Given the description of an element on the screen output the (x, y) to click on. 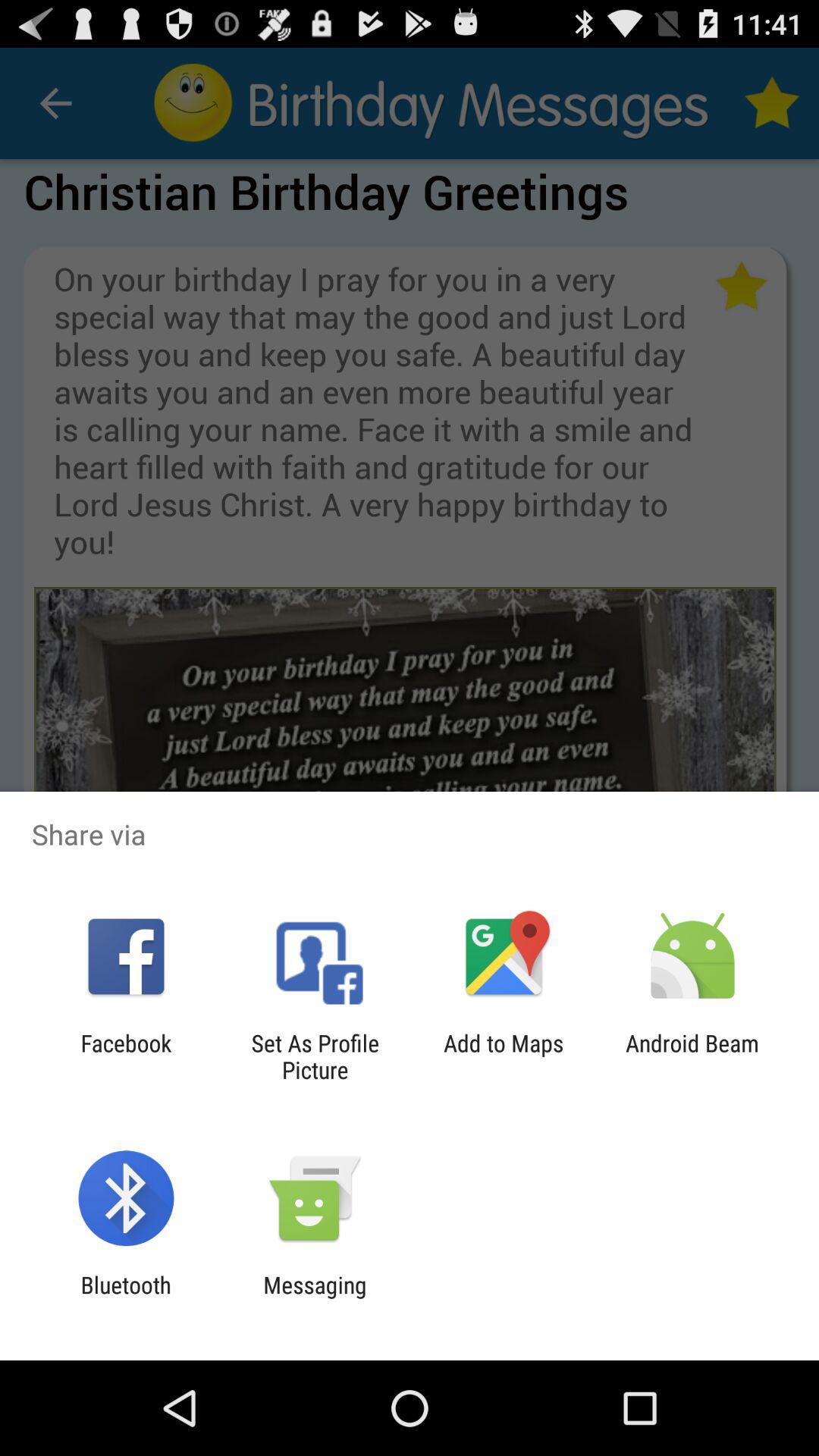
jump until the messaging item (314, 1298)
